Given the description of an element on the screen output the (x, y) to click on. 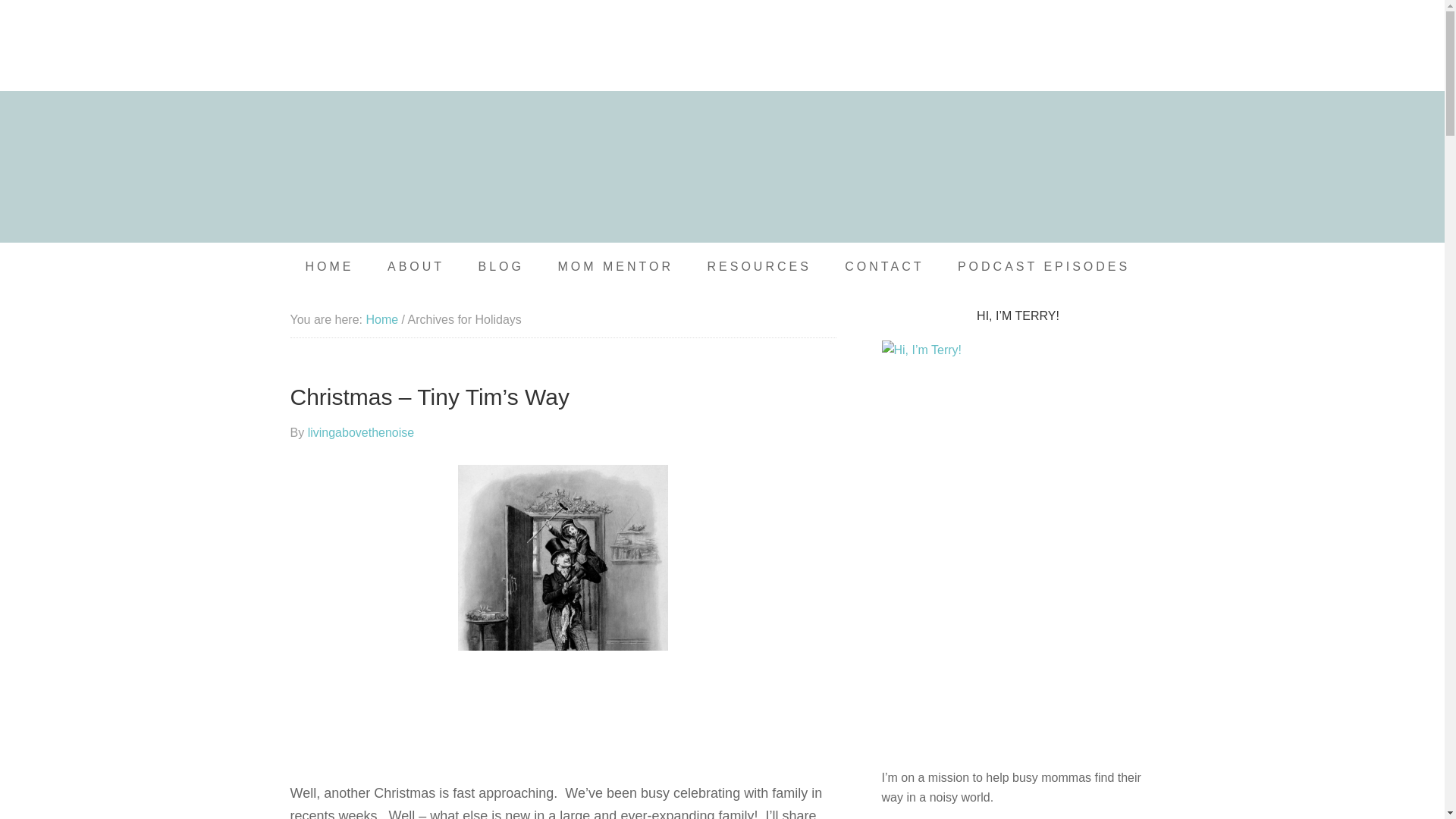
PODCAST EPISODES (1043, 266)
livingabovethenoise (360, 431)
MOM MENTOR (614, 266)
RESOURCES (758, 266)
BLOG (500, 266)
HOME (328, 266)
CONTACT (884, 266)
Find Living Above the Noise Podcasts here: (721, 45)
Home (381, 318)
ABOUT (416, 266)
